Given the description of an element on the screen output the (x, y) to click on. 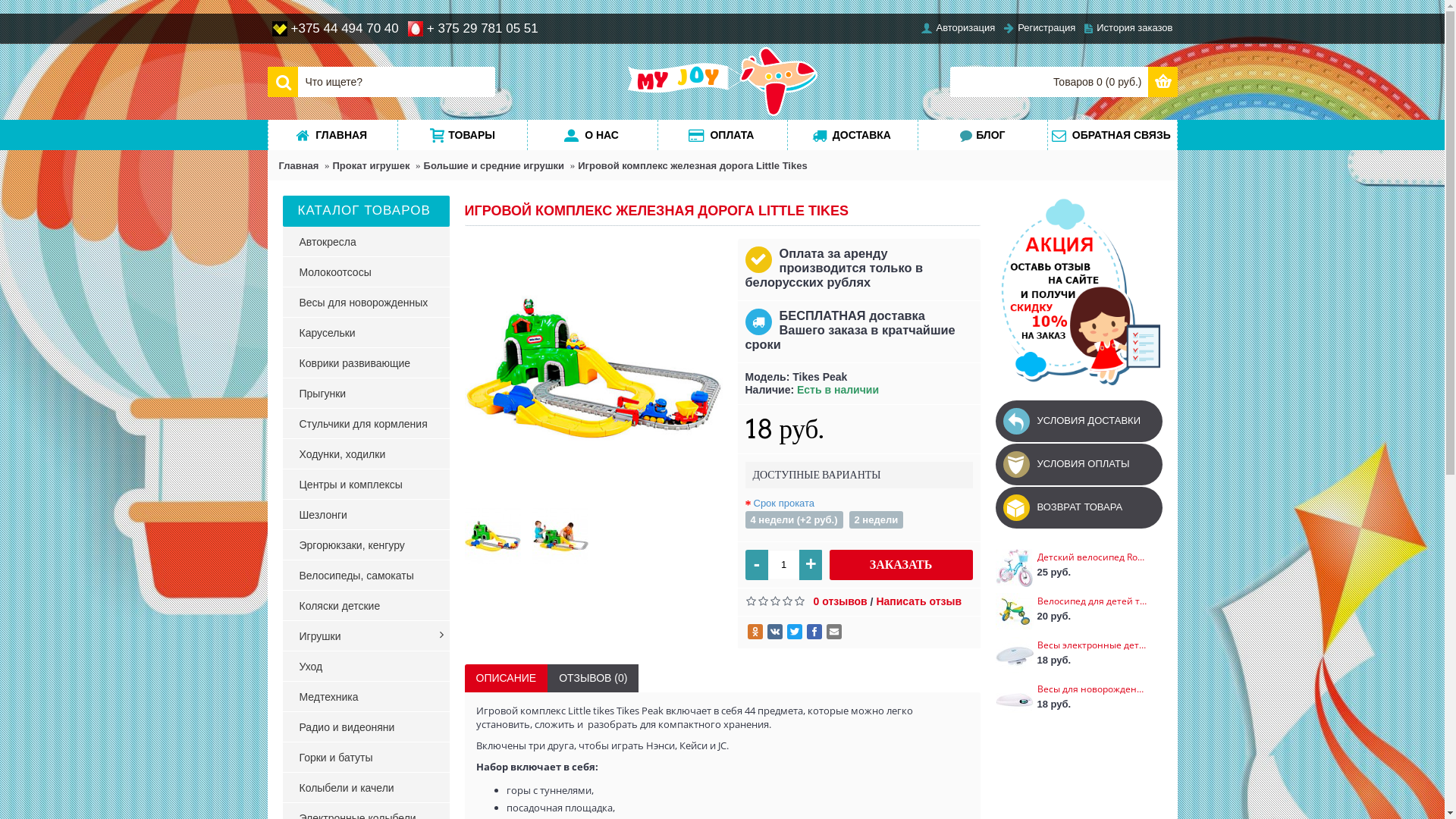
+ Element type: text (810, 564)
MYJOY.BY Element type: hover (722, 81)
- Element type: text (756, 564)
